Given the description of an element on the screen output the (x, y) to click on. 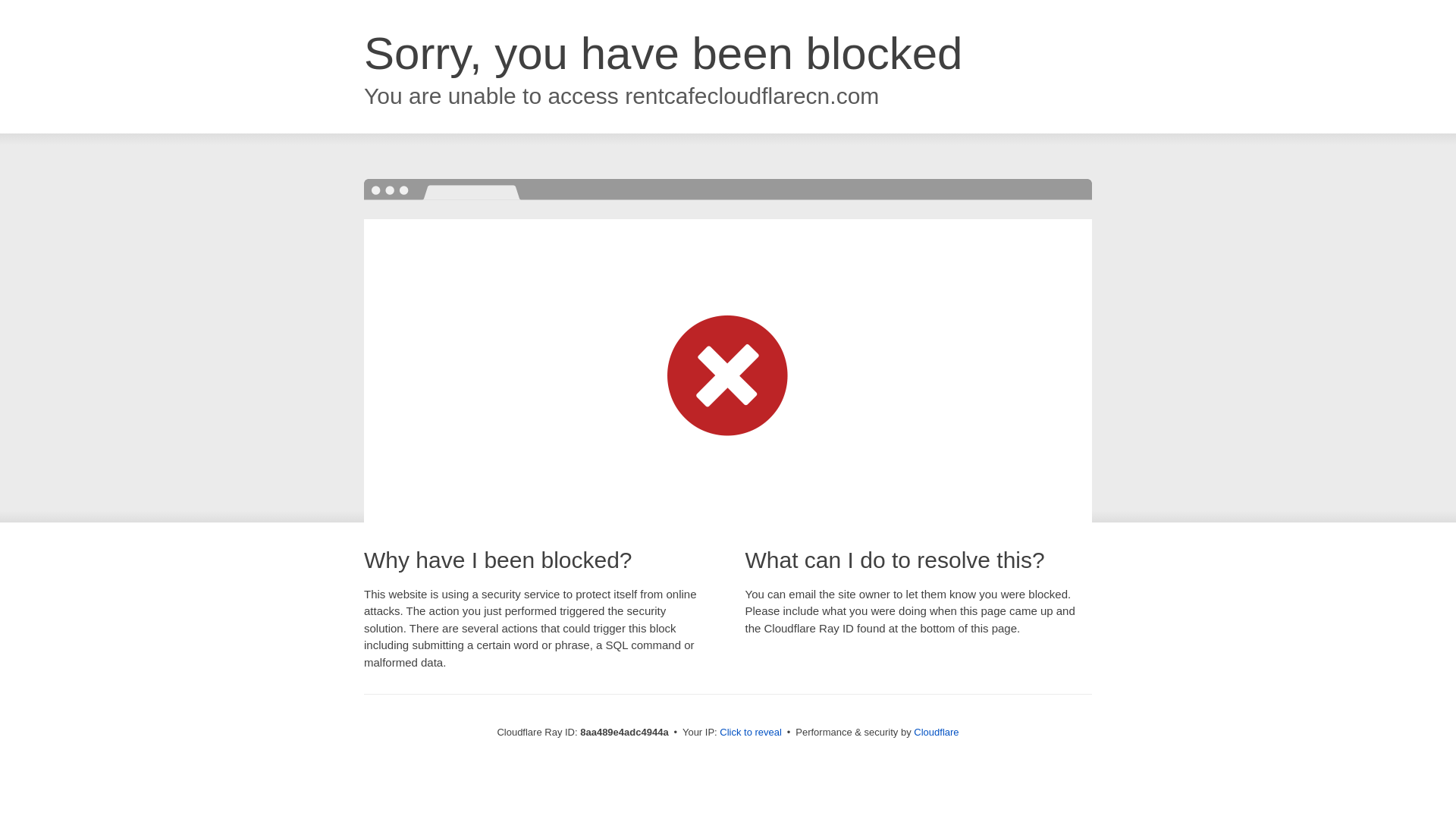
Click to reveal (750, 732)
Cloudflare (936, 731)
